Given the description of an element on the screen output the (x, y) to click on. 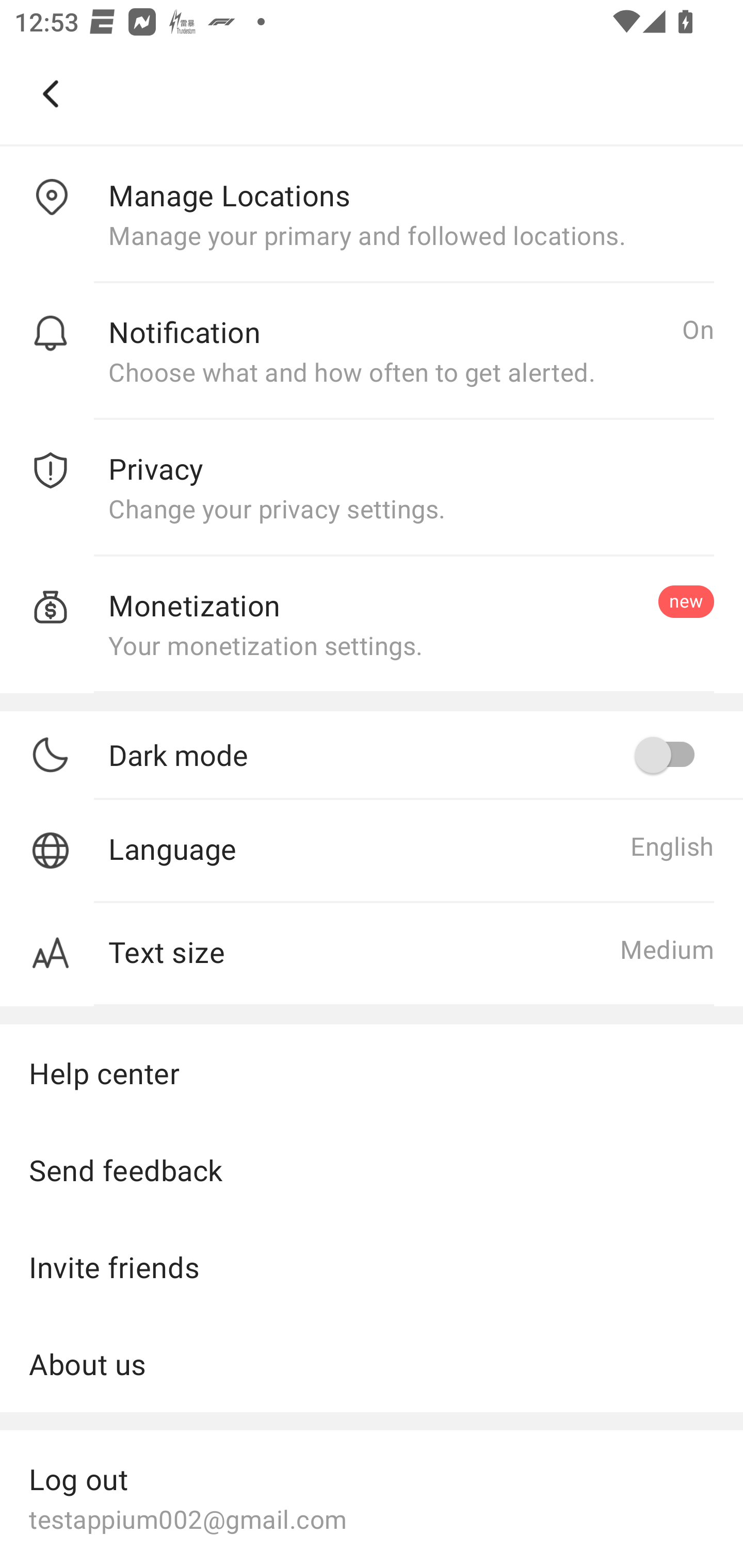
Navigate up (50, 93)
Privacy Change your privacy settings. (371, 488)
Monetization new Your monetization settings. (371, 624)
new (686, 600)
Dark mode (411, 754)
Language English (371, 851)
Text size Medium (371, 954)
Help center (371, 1072)
Send feedback (371, 1169)
Invite friends (371, 1266)
About us (371, 1363)
Log out testappium002@gmail.com (371, 1497)
